Given the description of an element on the screen output the (x, y) to click on. 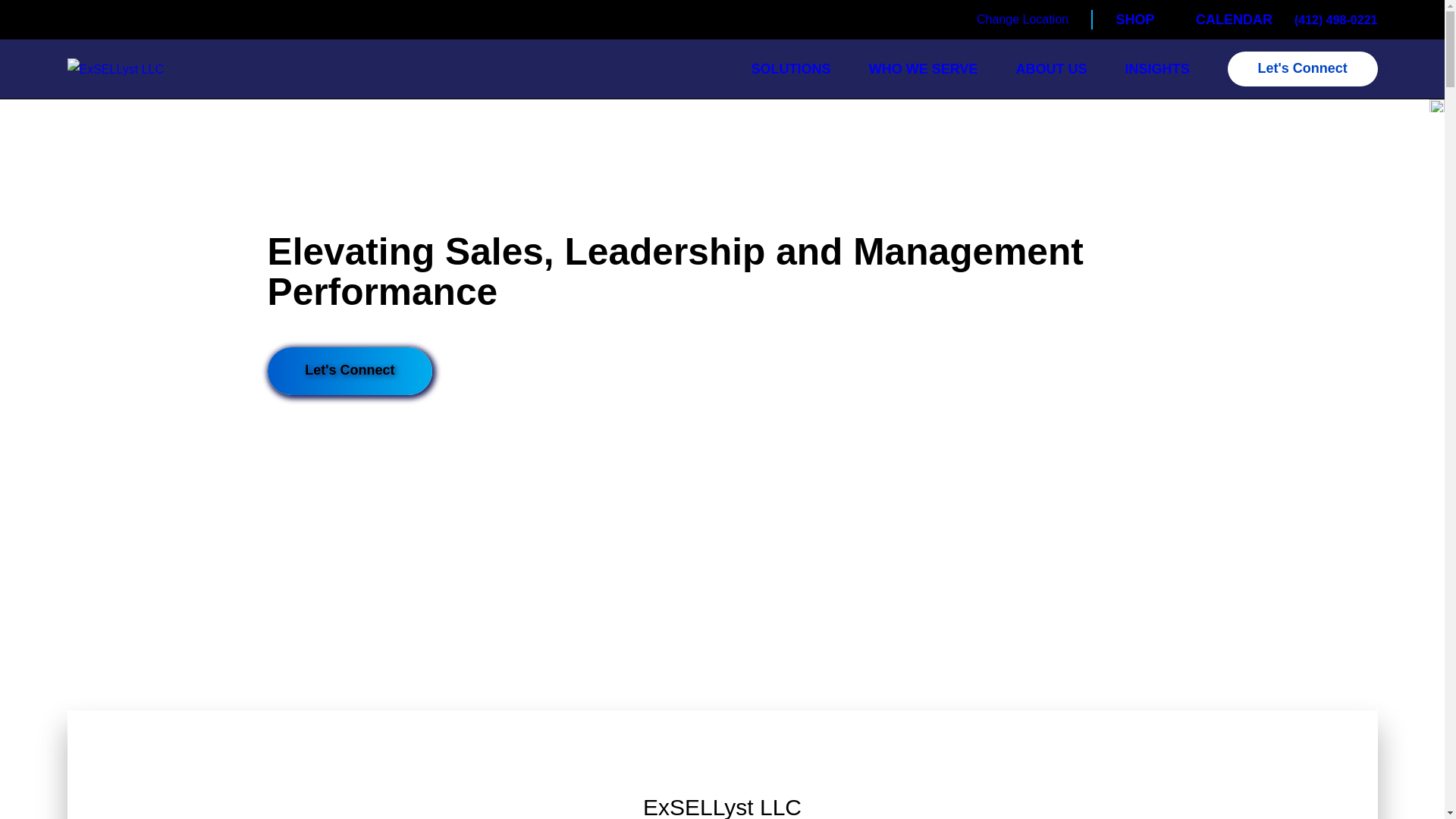
Home (114, 69)
CALENDAR (1233, 19)
ABOUT US (1050, 68)
SOLUTIONS (791, 68)
SHOP (1135, 19)
WHO WE SERVE (923, 68)
Change Location (1022, 18)
INSIGHTS (1157, 68)
